Given the description of an element on the screen output the (x, y) to click on. 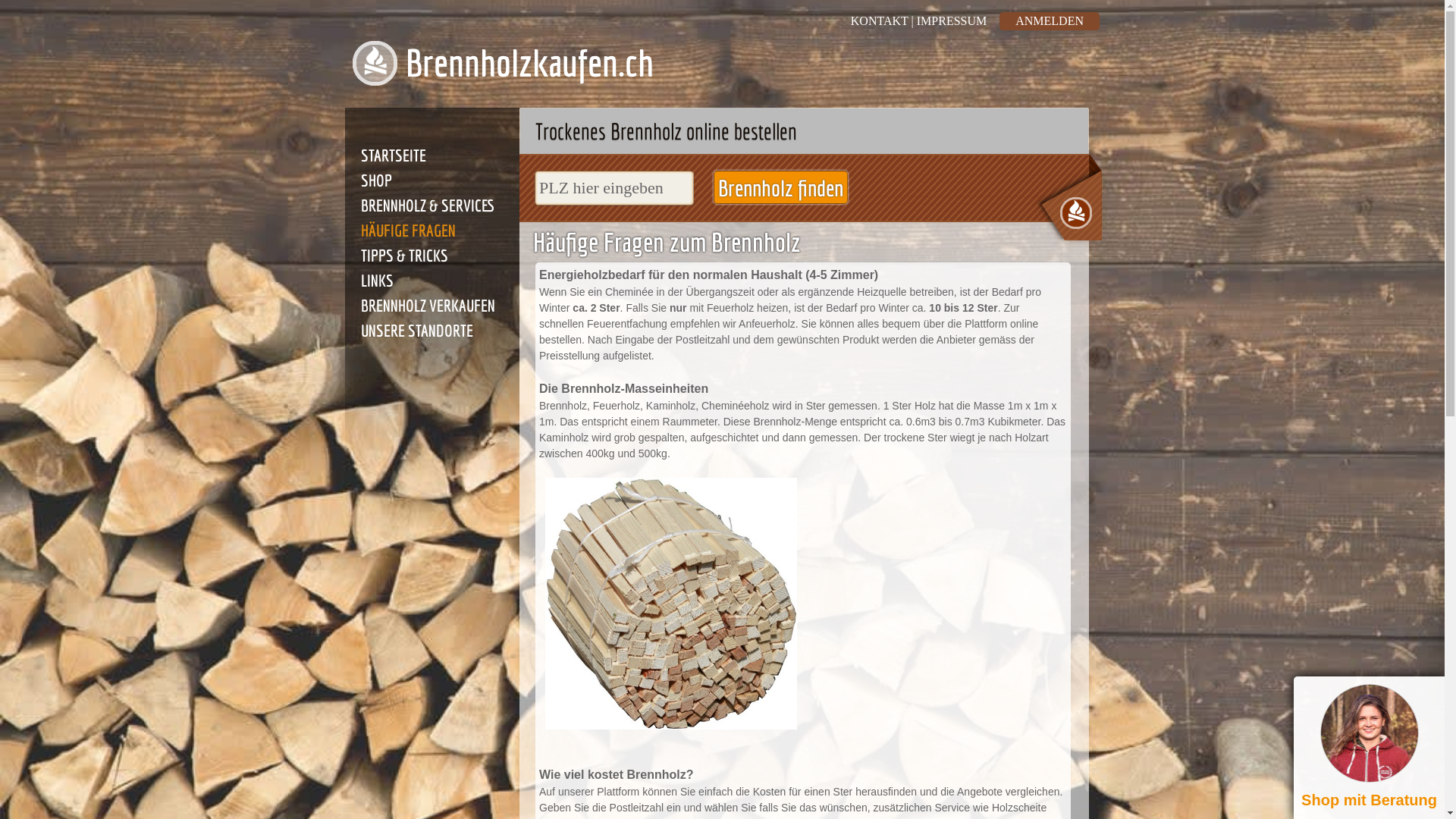
UNSERE STANDORTE Element type: text (416, 329)
STARTSEITE Element type: text (393, 154)
LINKS Element type: text (376, 279)
BRENNHOLZ & SERVICES Element type: text (427, 204)
KONTAKT |  Element type: text (883, 20)
SHOP Element type: text (376, 179)
BRENNHOLZ VERKAUFEN Element type: text (427, 304)
IMPRESSUM Element type: text (951, 20)
Brennholz finden Element type: text (779, 186)
ANMELDEN Element type: text (1049, 20)
Shop mit Beratung Element type: text (1369, 747)
TIPPS & TRICKS Element type: text (404, 254)
Direkt zum Inhalt Element type: text (28, 0)
